Given the description of an element on the screen output the (x, y) to click on. 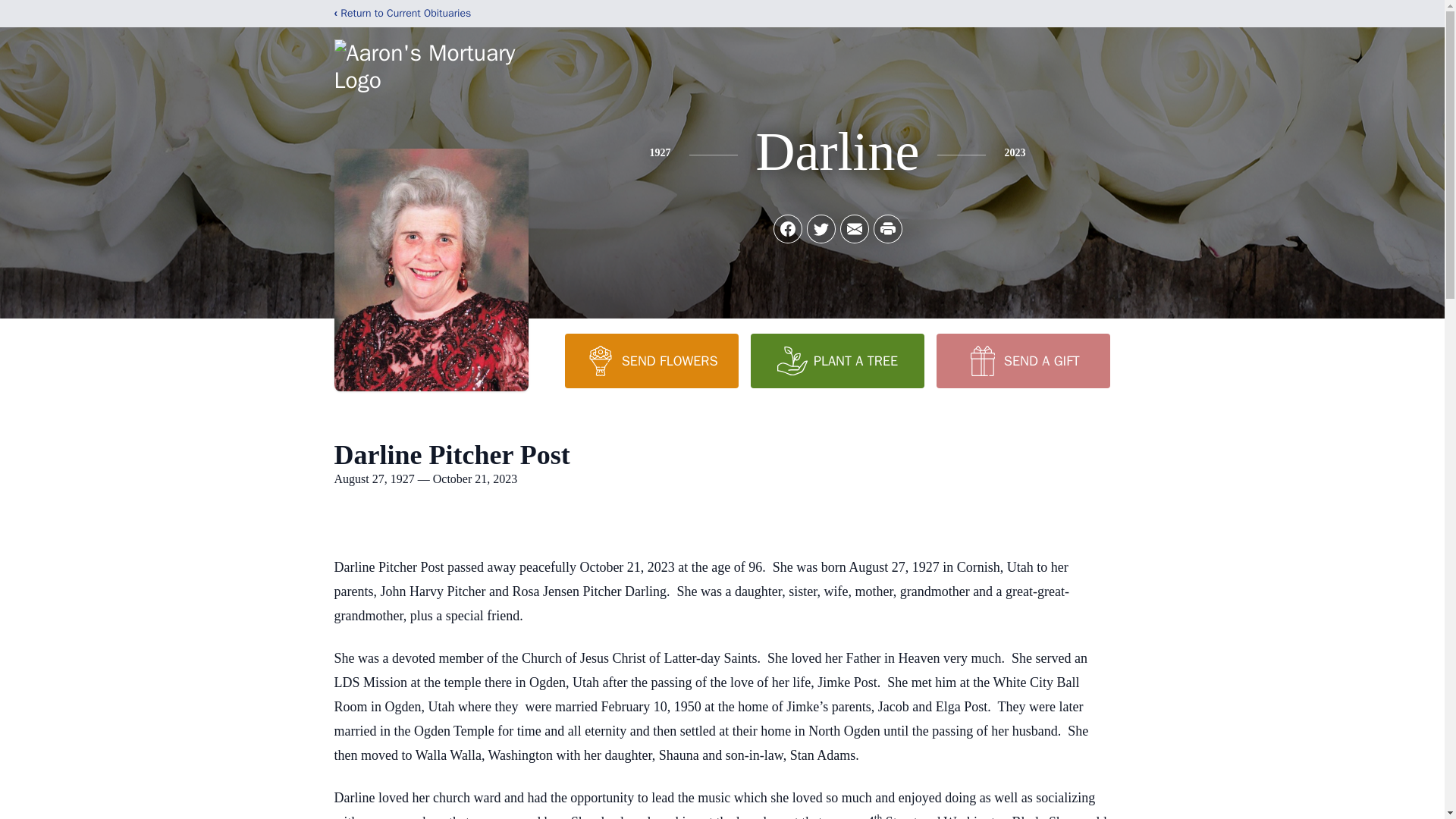
SEND FLOWERS (651, 360)
PLANT A TREE (837, 360)
SEND A GIFT (1022, 360)
